Given the description of an element on the screen output the (x, y) to click on. 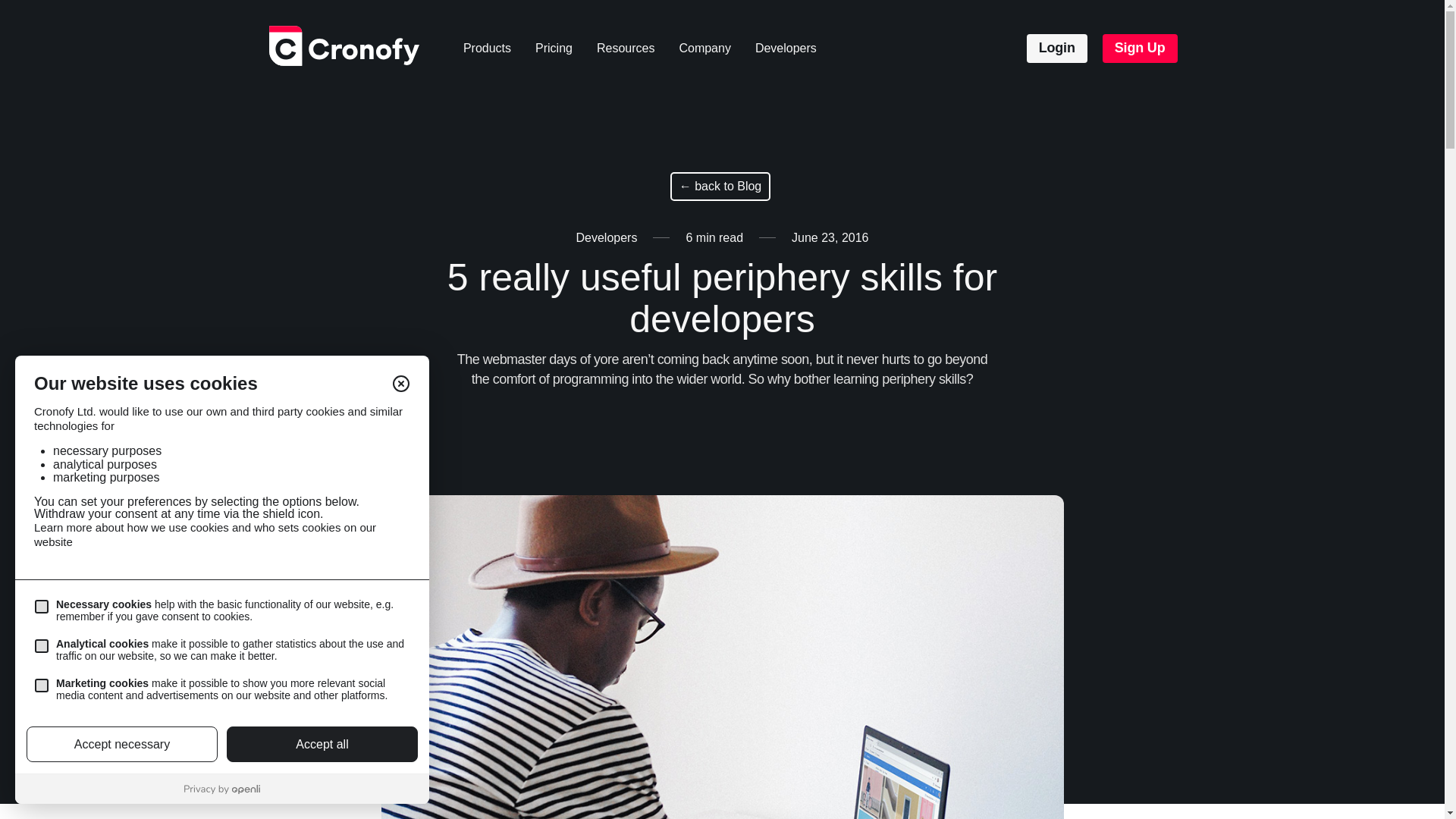
Developers (606, 237)
Sign Up (1139, 48)
Privacy by Openli (221, 788)
Login (1056, 48)
Developers (785, 47)
Pricing (553, 47)
